Given the description of an element on the screen output the (x, y) to click on. 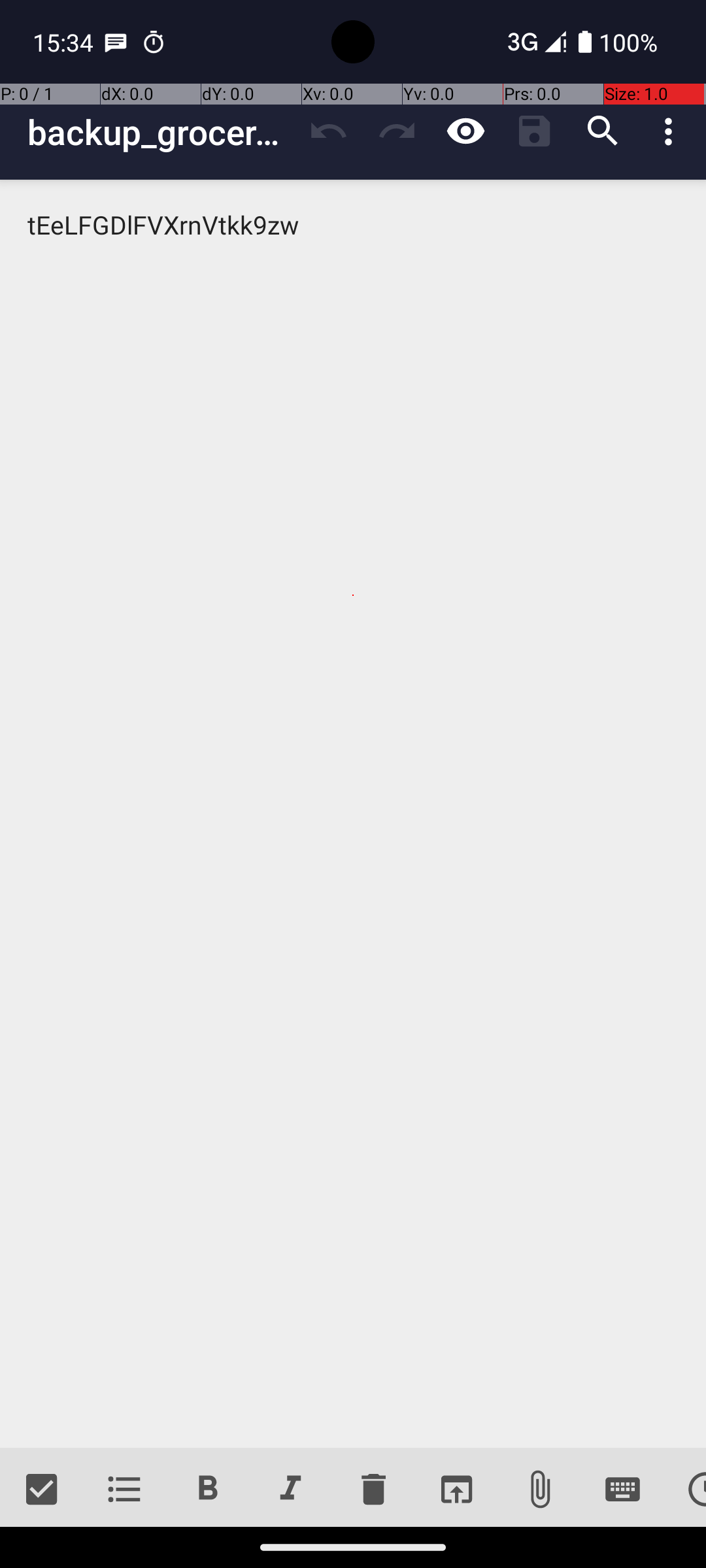
backup_grocery_list_weekly Element type: android.widget.TextView (160, 131)
tEeLFGDlFVXrnVtkk9zw
 Element type: android.widget.EditText (353, 813)
